Given the description of an element on the screen output the (x, y) to click on. 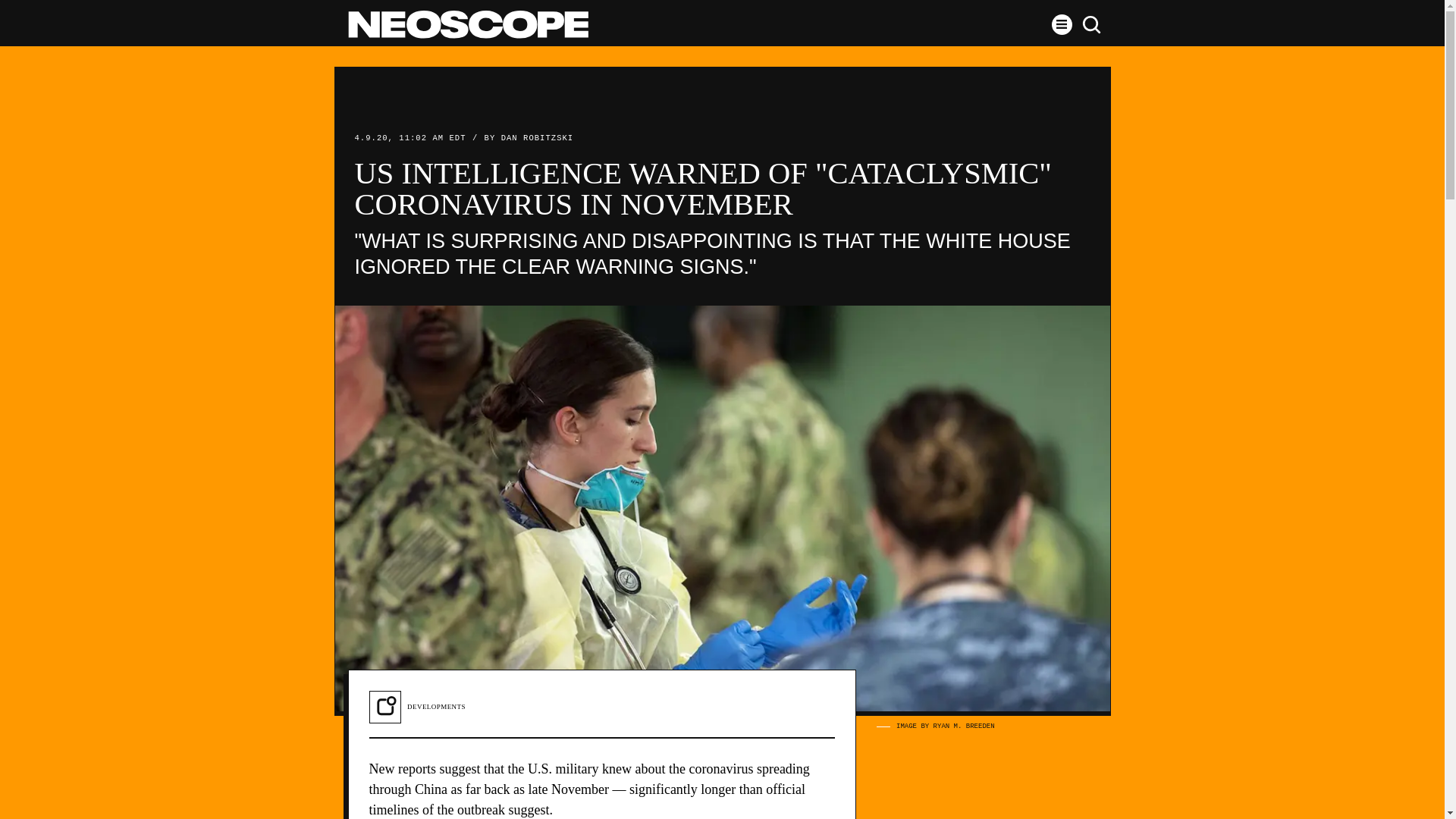
Developments (436, 706)
DAN ROBITZSKI (536, 138)
Dan Robitzski (536, 138)
Neoscope (467, 24)
DEVELOPMENTS (436, 706)
